Given the description of an element on the screen output the (x, y) to click on. 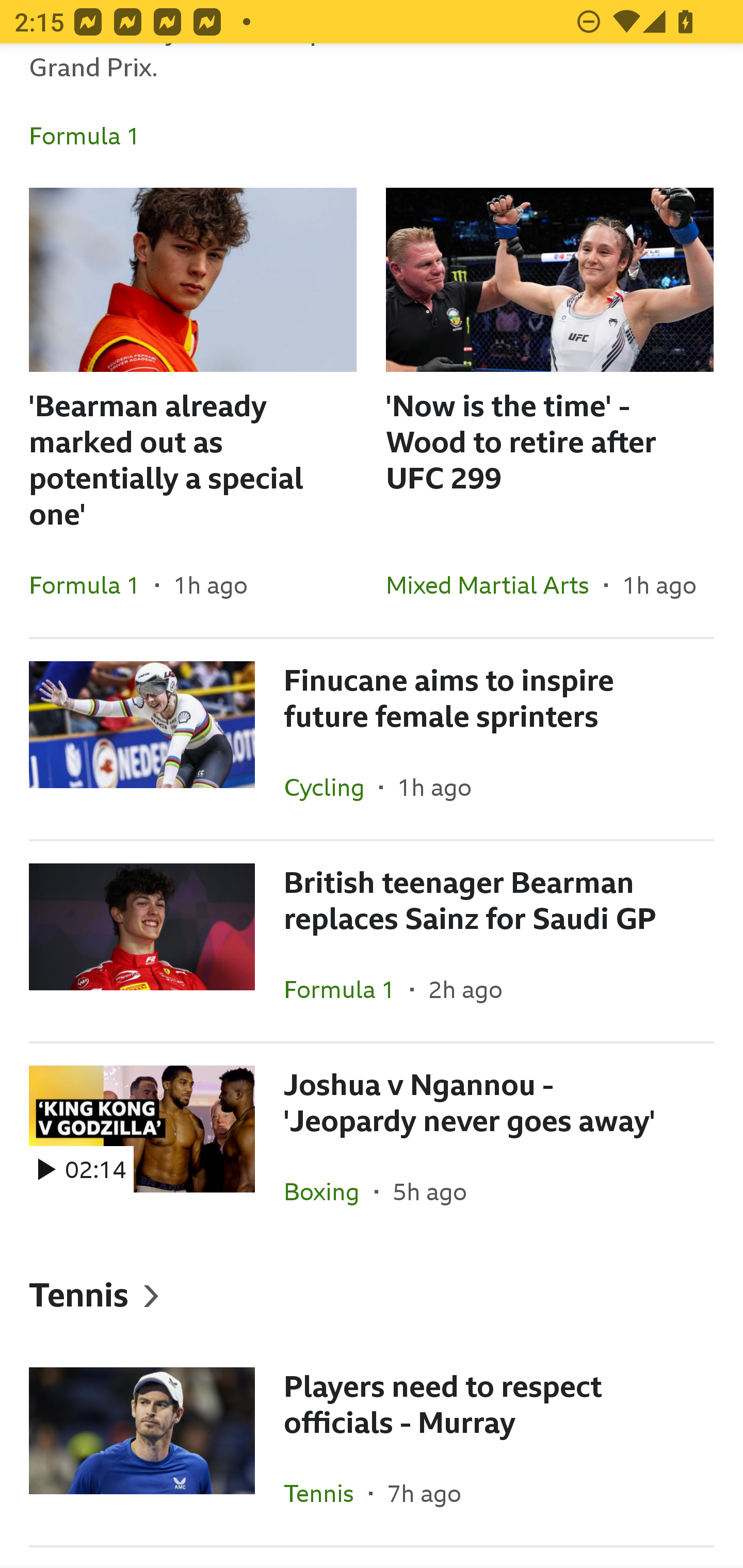
Tennis, Heading Tennis    (371, 1294)
